Given the description of an element on the screen output the (x, y) to click on. 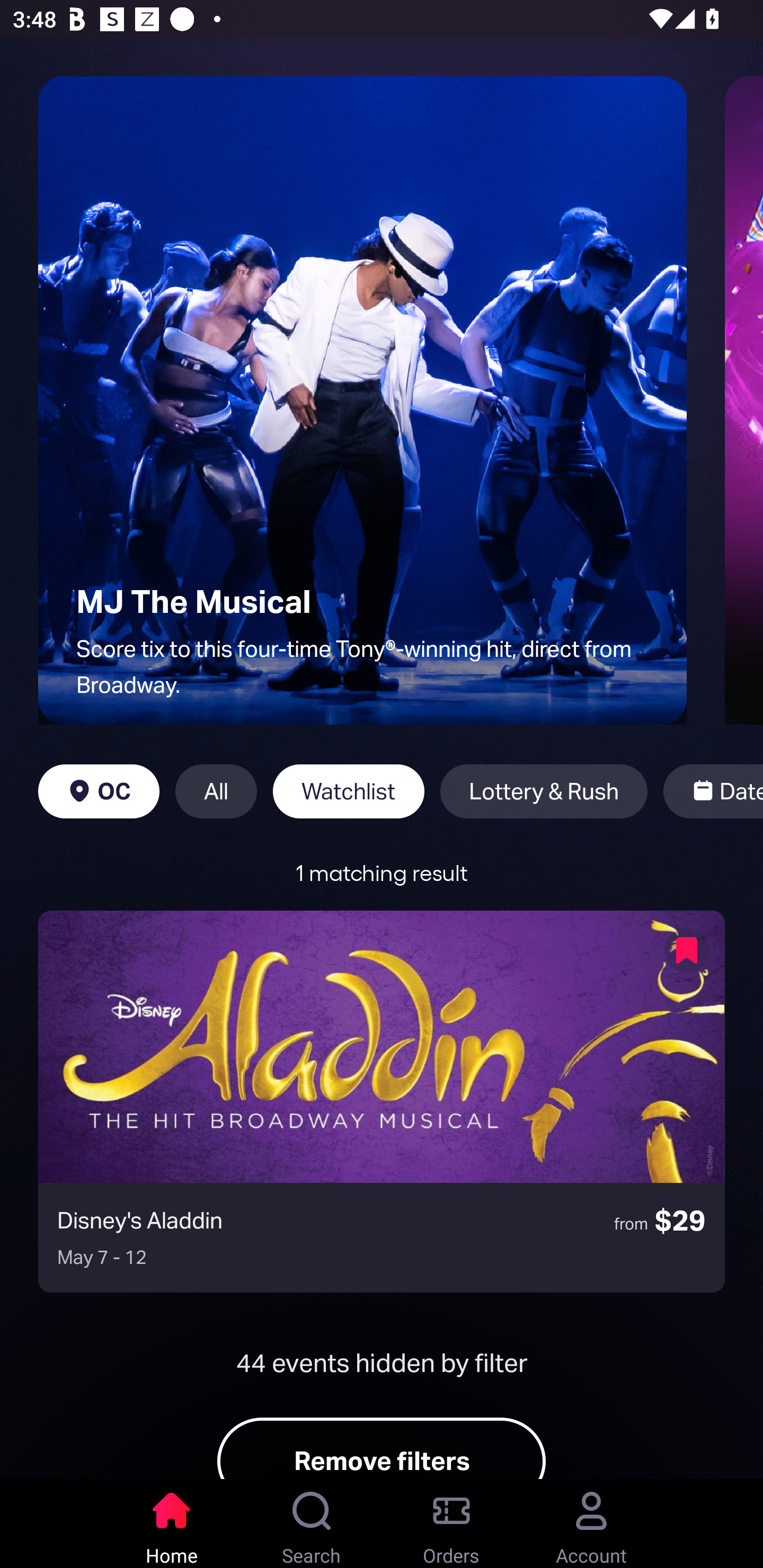
OC (98, 791)
All (216, 791)
Watchlist (348, 791)
Lottery & Rush (543, 791)
Disney's Aladdin from $29 May 7 - 12 (381, 1101)
Remove filters (381, 1447)
Search (311, 1523)
Orders (451, 1523)
Account (591, 1523)
